Given the description of an element on the screen output the (x, y) to click on. 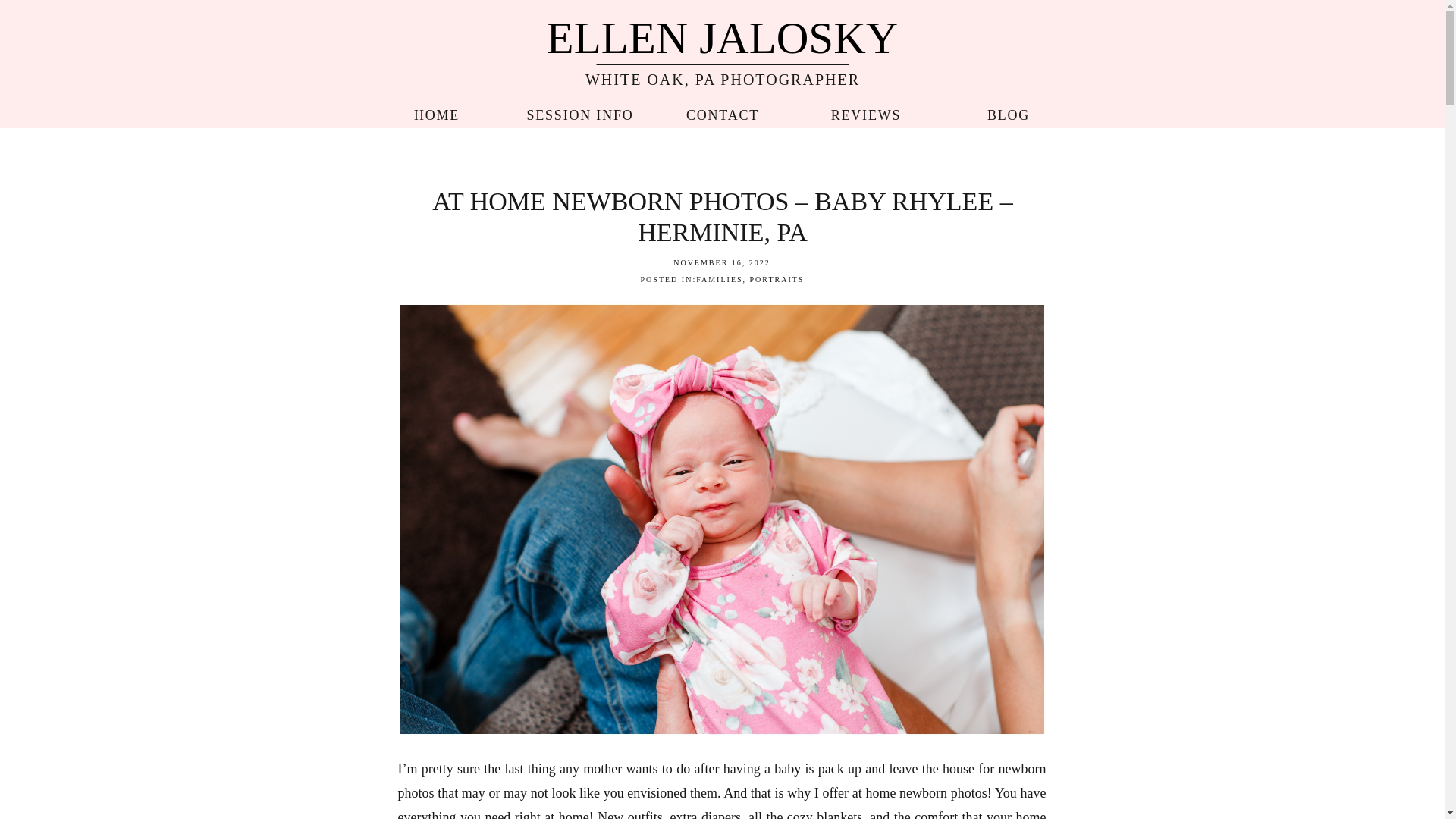
CONTACT (722, 110)
HOME (436, 110)
ELLEN JALOSKY (721, 34)
BLOG (1008, 110)
REVIEWS (865, 110)
SESSION INFO (580, 110)
PORTRAITS (777, 279)
FAMILIES (718, 279)
